Given the description of an element on the screen output the (x, y) to click on. 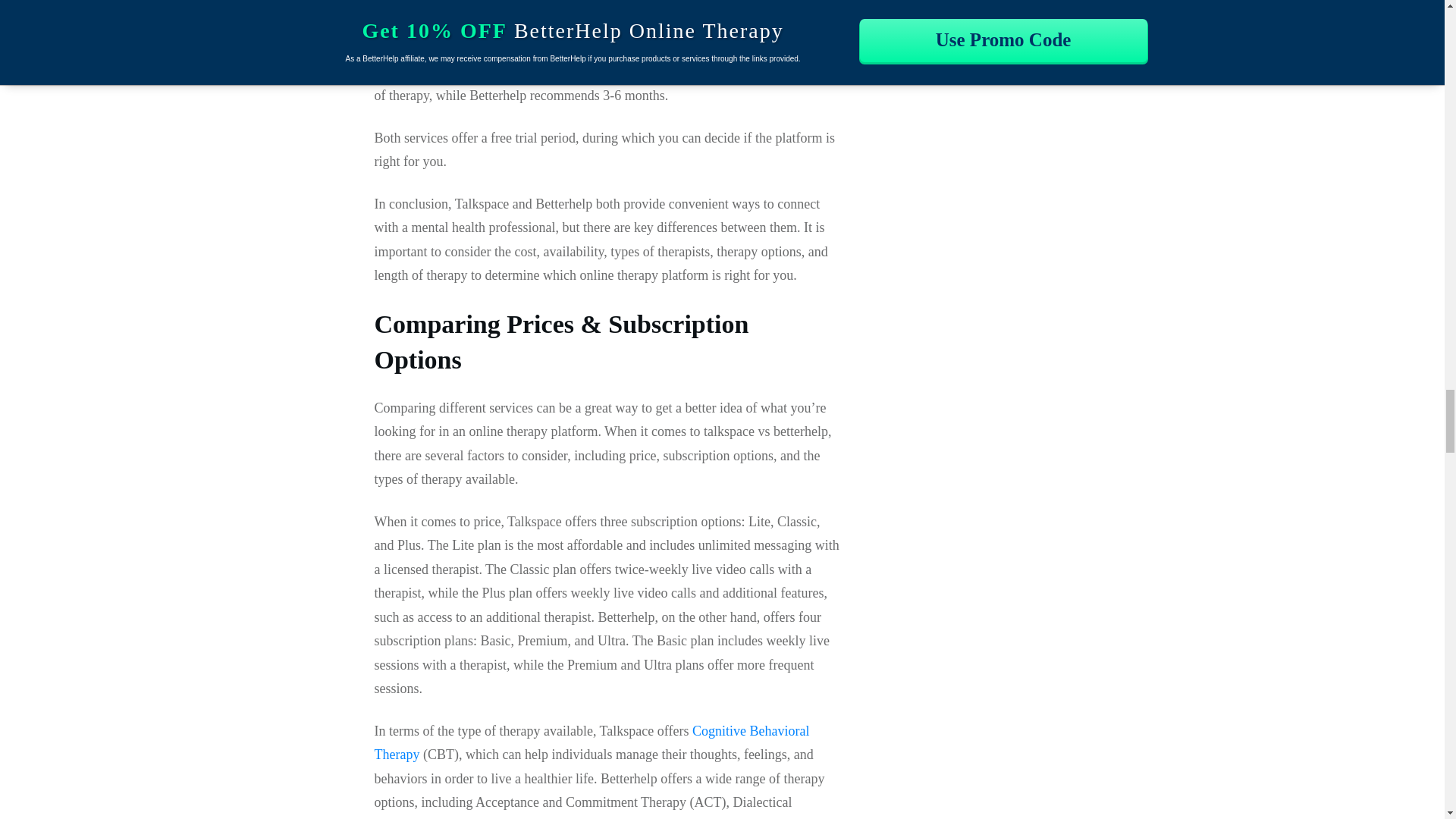
Cognitive Behavioral Therapy (591, 742)
